Given the description of an element on the screen output the (x, y) to click on. 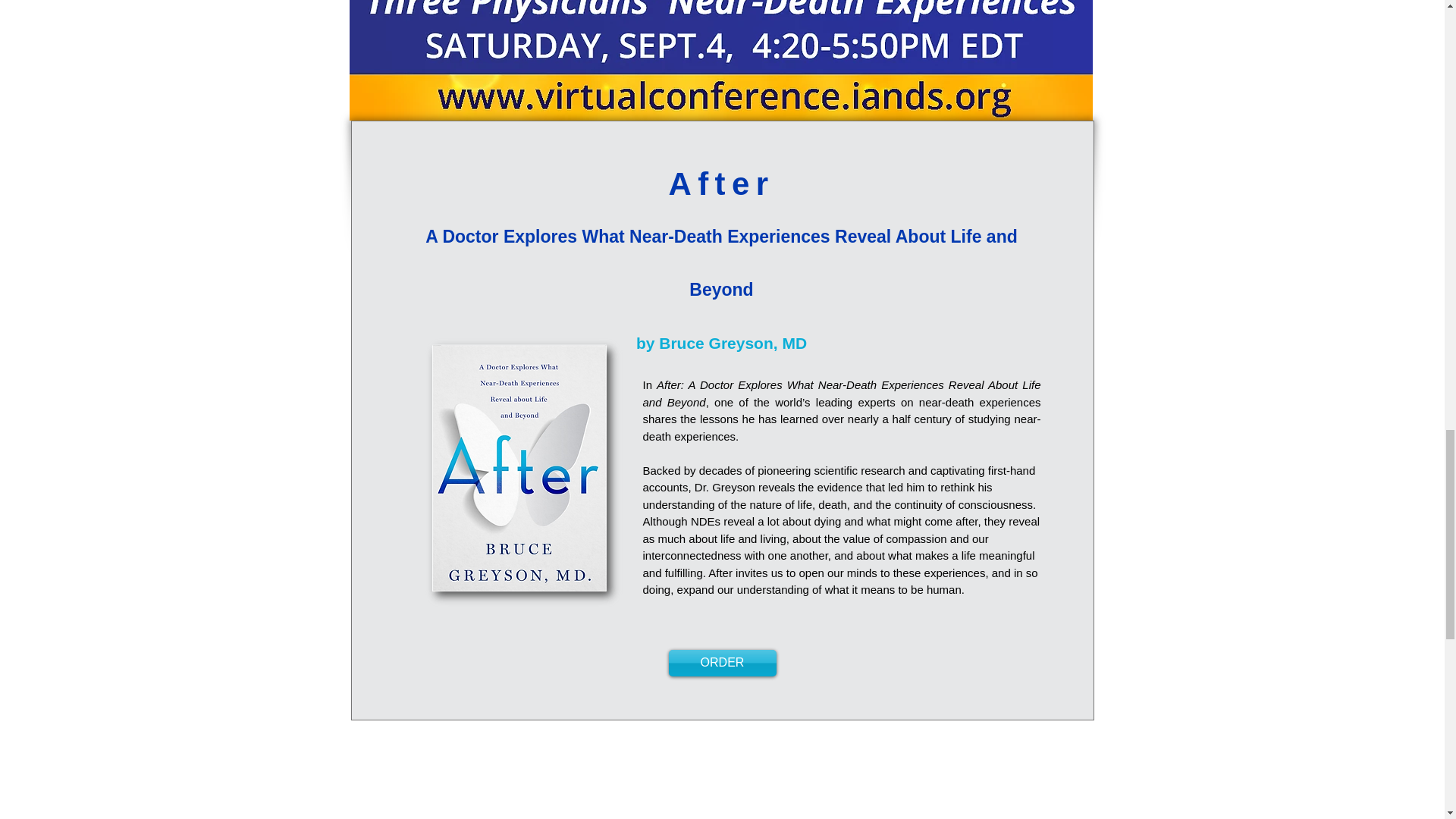
ORDER (722, 663)
by Bruce Greyson, MD (721, 337)
three physicians copy.jpg (720, 60)
